Given the description of an element on the screen output the (x, y) to click on. 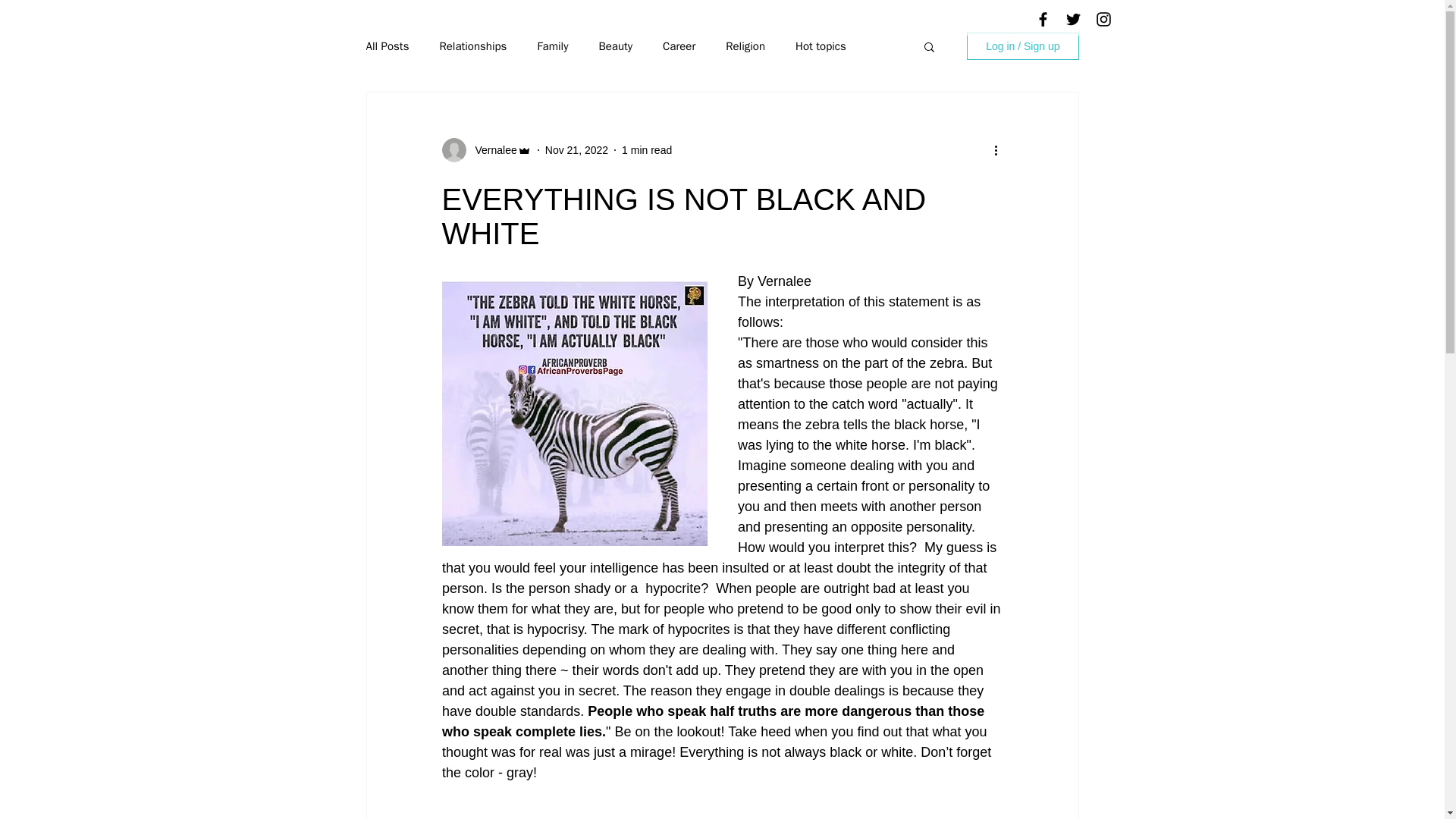
All Posts (387, 46)
Beauty (614, 46)
Vernalee (490, 150)
Family (552, 46)
Career (678, 46)
Hot topics (819, 46)
1 min read (646, 150)
Nov 21, 2022 (576, 150)
Religion (745, 46)
Relationships (472, 46)
